Given the description of an element on the screen output the (x, y) to click on. 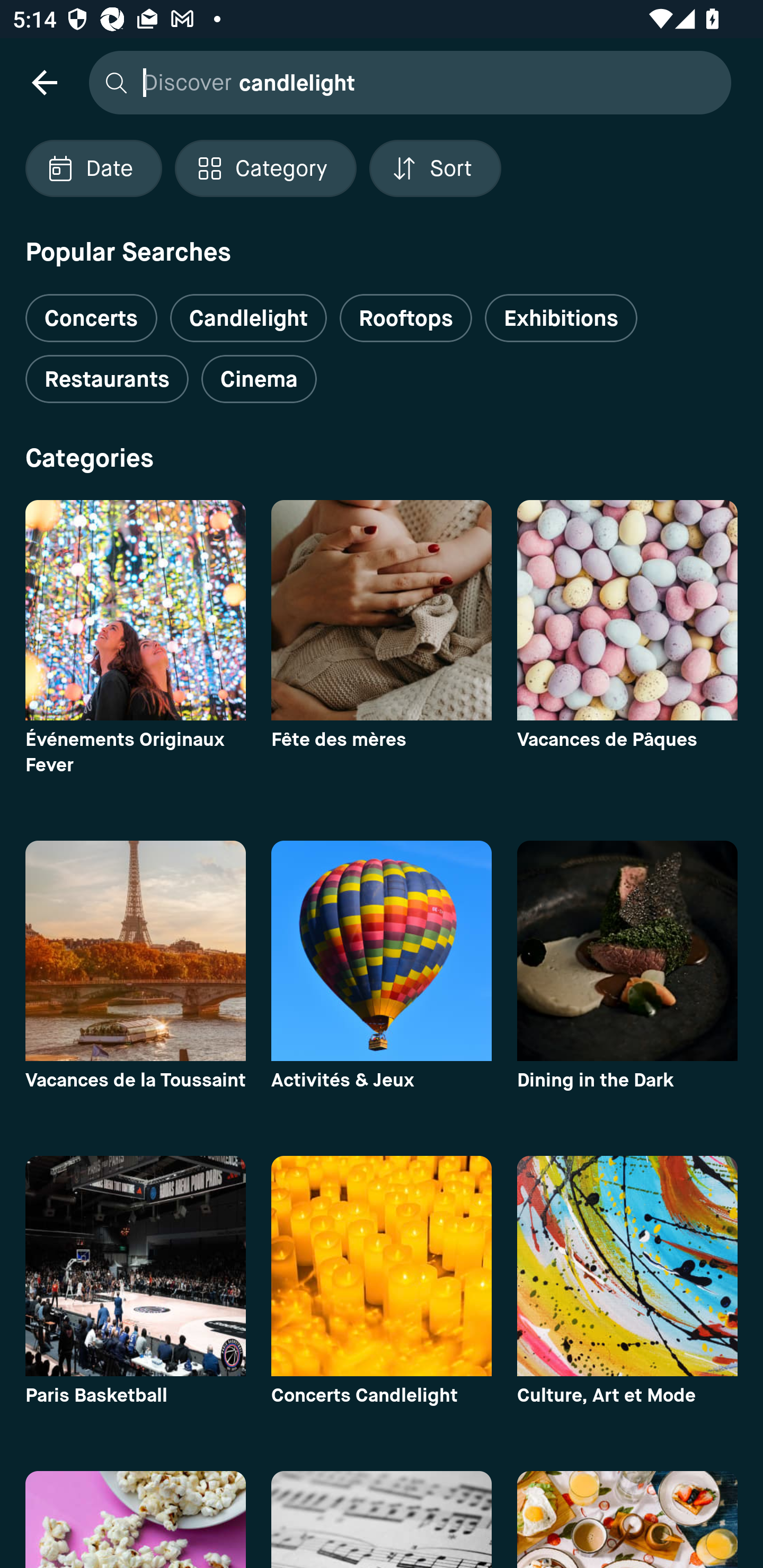
navigation icon (44, 81)
Discover candlelight (405, 81)
Localized description Date (93, 168)
Localized description Category (265, 168)
Localized description Sort (435, 168)
Concerts (91, 310)
Candlelight (248, 317)
Rooftops (405, 317)
Exhibitions (560, 317)
Restaurants (106, 379)
Cinema (258, 379)
category image (135, 609)
category image (381, 609)
category image (627, 609)
category image (135, 950)
category image (381, 950)
category image (627, 950)
category image (135, 1265)
category image (381, 1265)
category image (627, 1265)
